Given the description of an element on the screen output the (x, y) to click on. 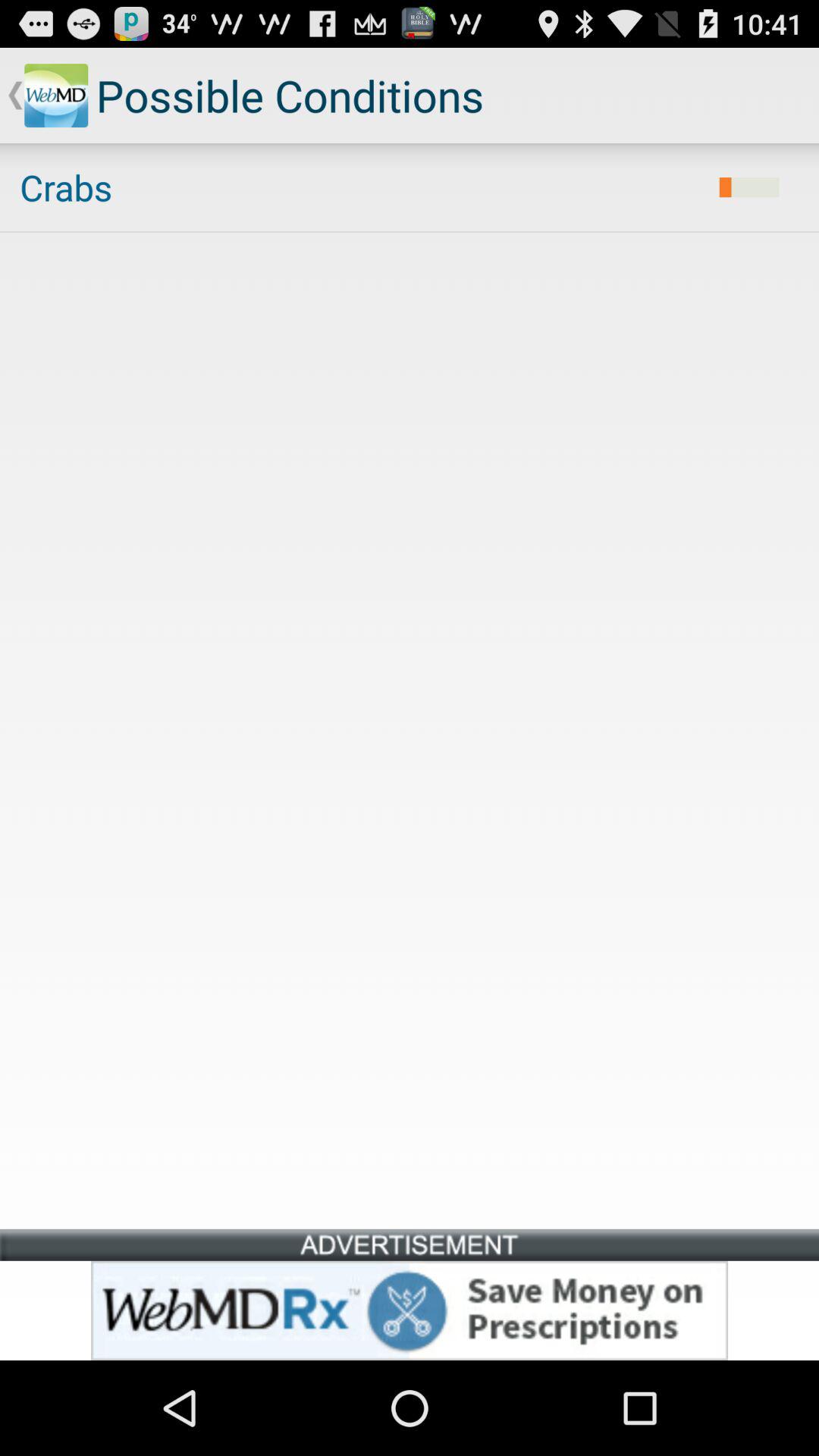
open crabs item (359, 187)
